Given the description of an element on the screen output the (x, y) to click on. 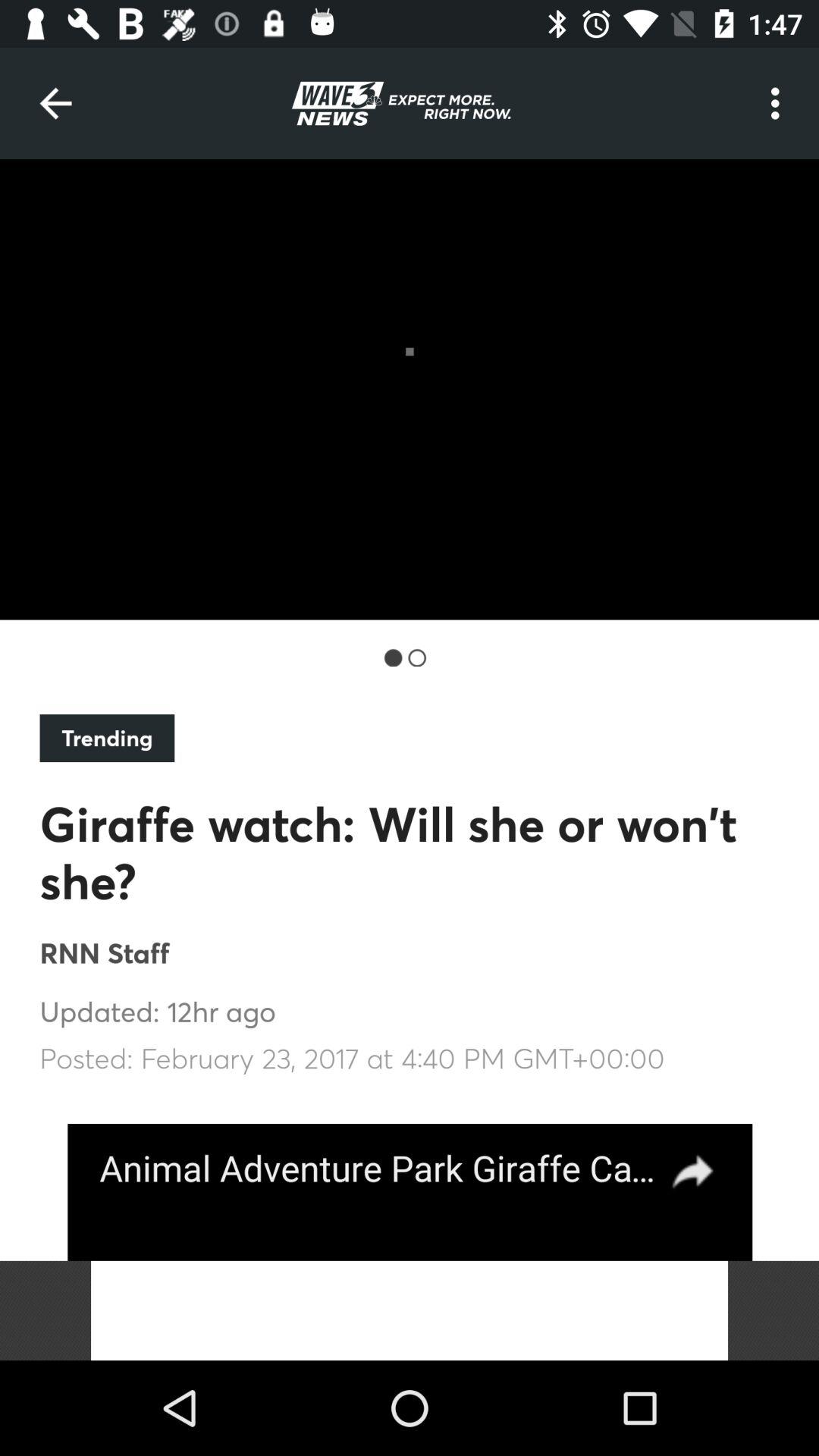
select the text which is above the word giraffe (107, 737)
select the  more  option on page (779, 103)
